Given the description of an element on the screen output the (x, y) to click on. 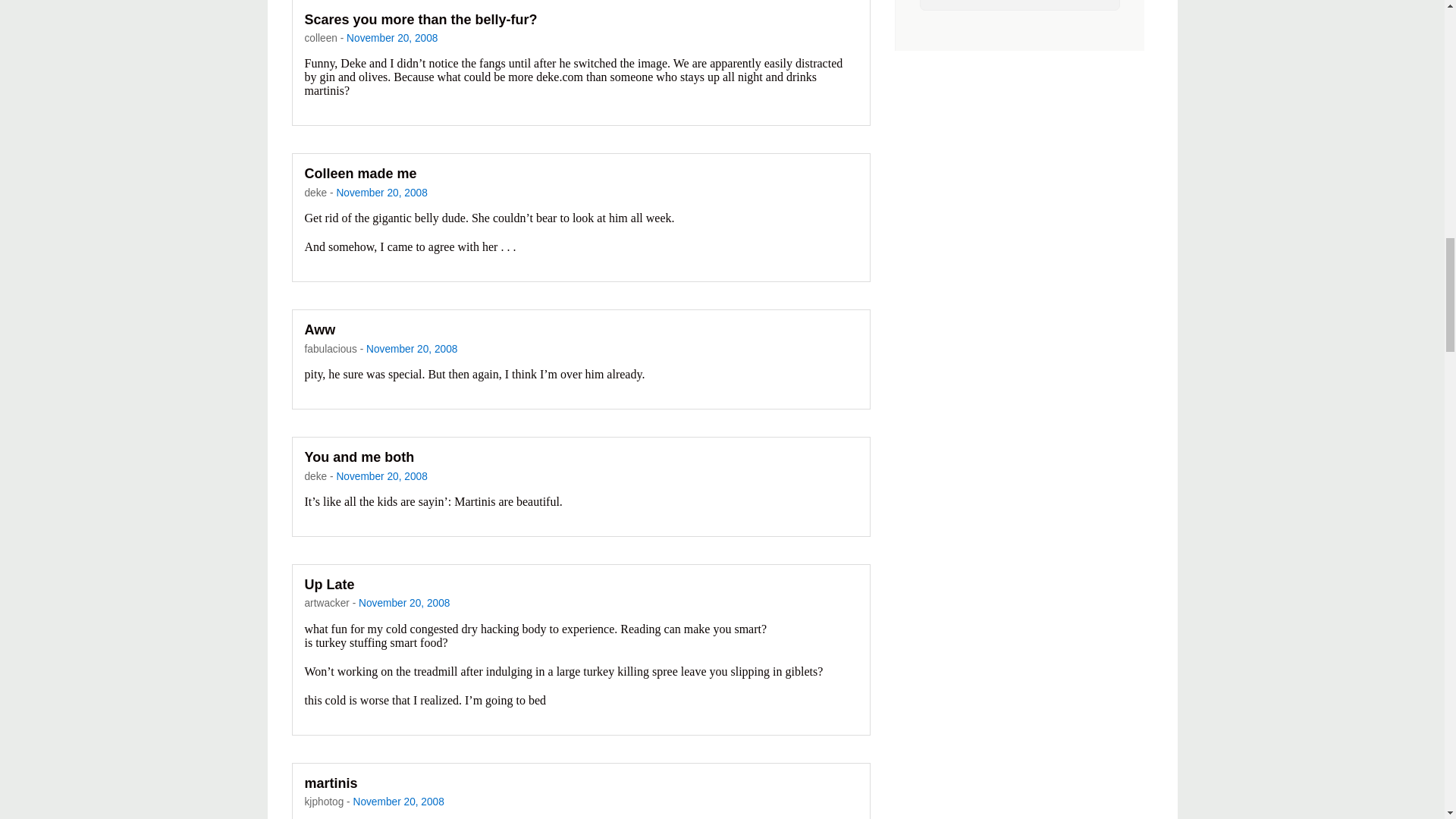
November 20, 2008 (411, 348)
November 20, 2008 (403, 603)
November 20, 2008 (398, 801)
November 20, 2008 (392, 38)
November 20, 2008 (381, 193)
November 20, 2008 (381, 476)
